Given the description of an element on the screen output the (x, y) to click on. 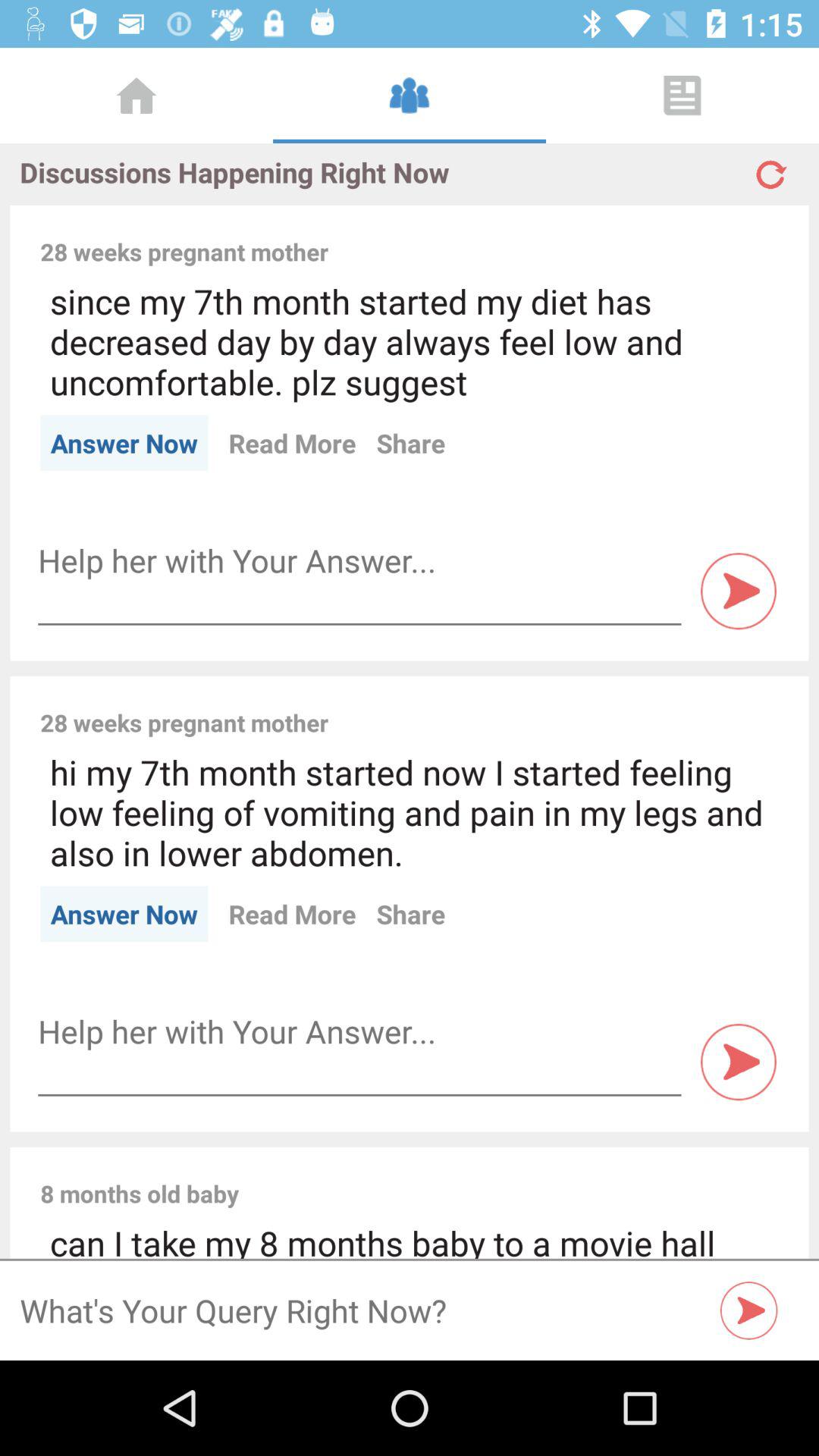
so you can enter text (359, 1031)
